Given the description of an element on the screen output the (x, y) to click on. 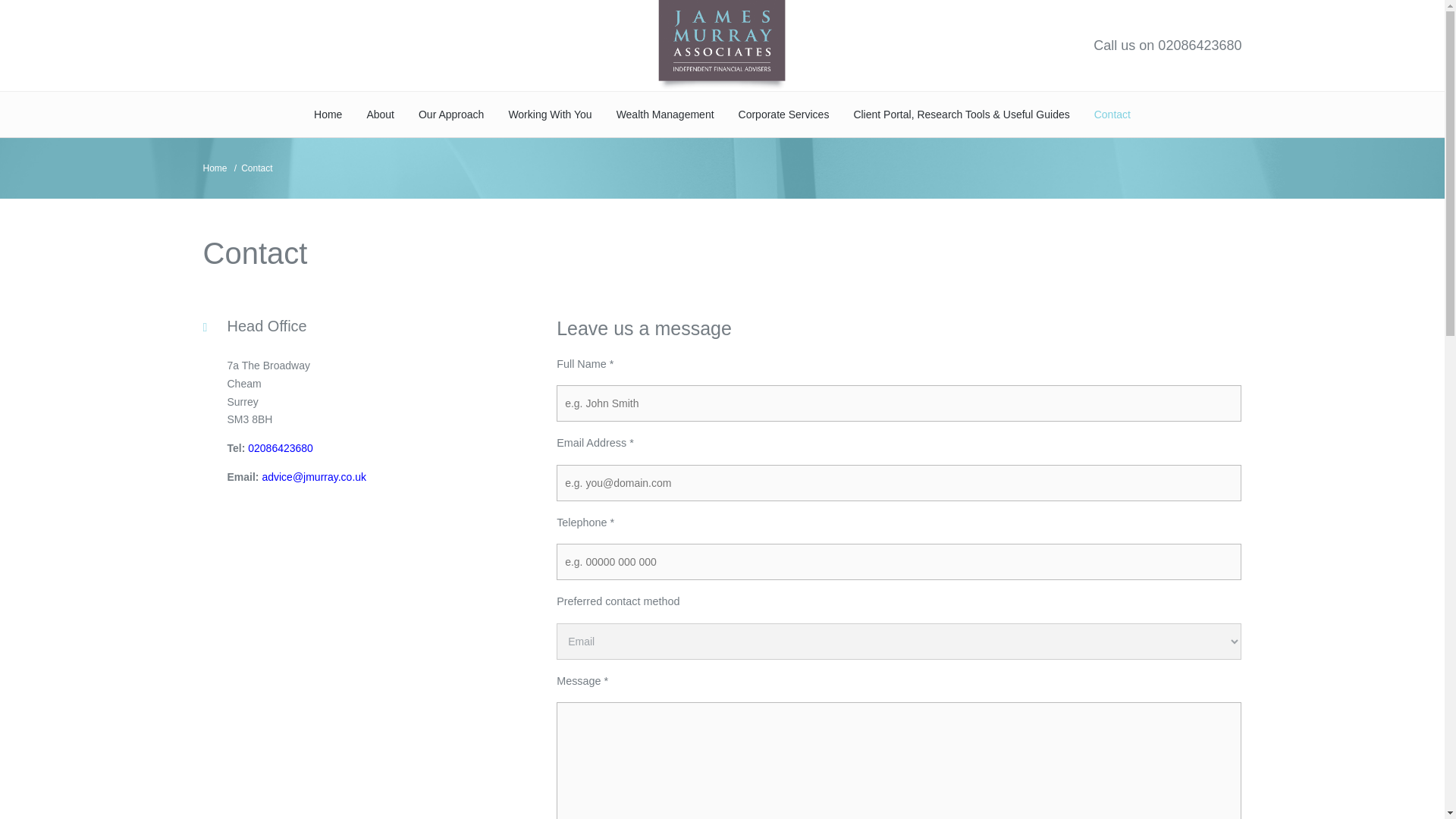
About (379, 114)
Home (327, 114)
Email us (314, 476)
